Given the description of an element on the screen output the (x, y) to click on. 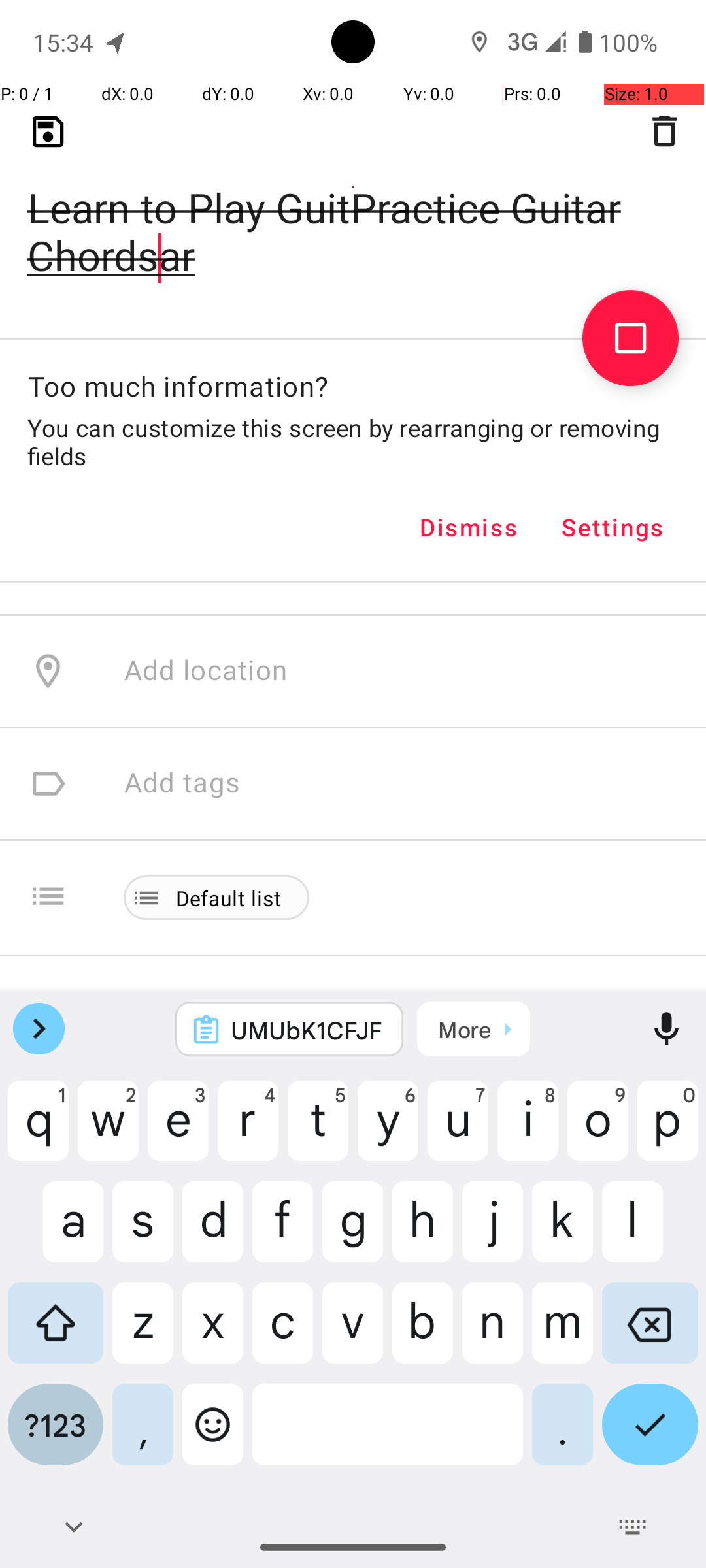
Learn to Play GuitPractice Guitar Chordsar Element type: android.widget.EditText (353, 210)
Week before due 16:53 Element type: android.widget.TextView (272, 221)
